Given the description of an element on the screen output the (x, y) to click on. 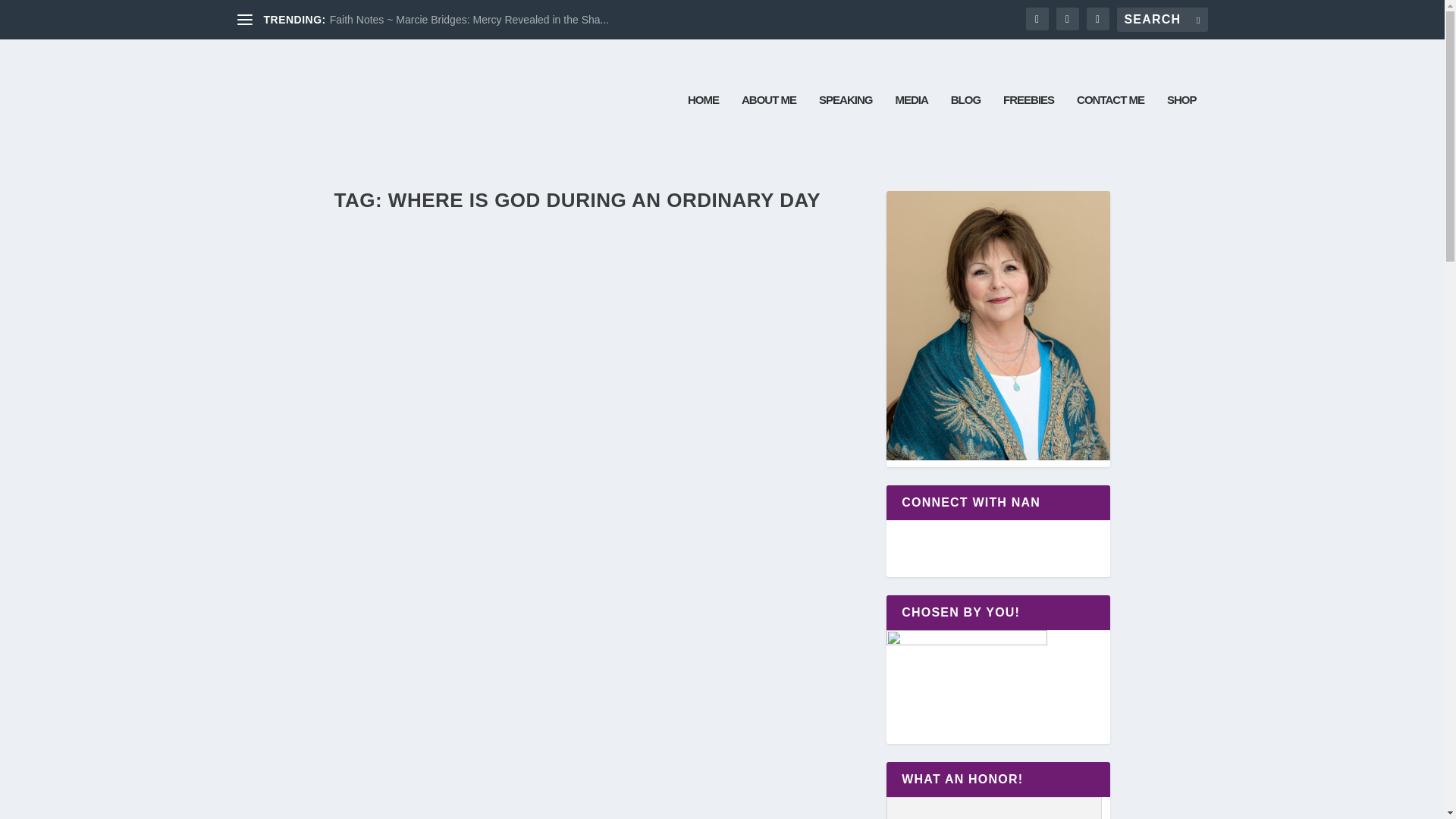
FREEBIES (1028, 127)
Search for: (1161, 19)
MEDIA (911, 127)
CONTACT ME (1110, 127)
SHOP (1181, 127)
HOME (703, 127)
Search (34, 14)
ABOUT ME (768, 127)
BLOG (964, 127)
SPEAKING (845, 127)
